Given the description of an element on the screen output the (x, y) to click on. 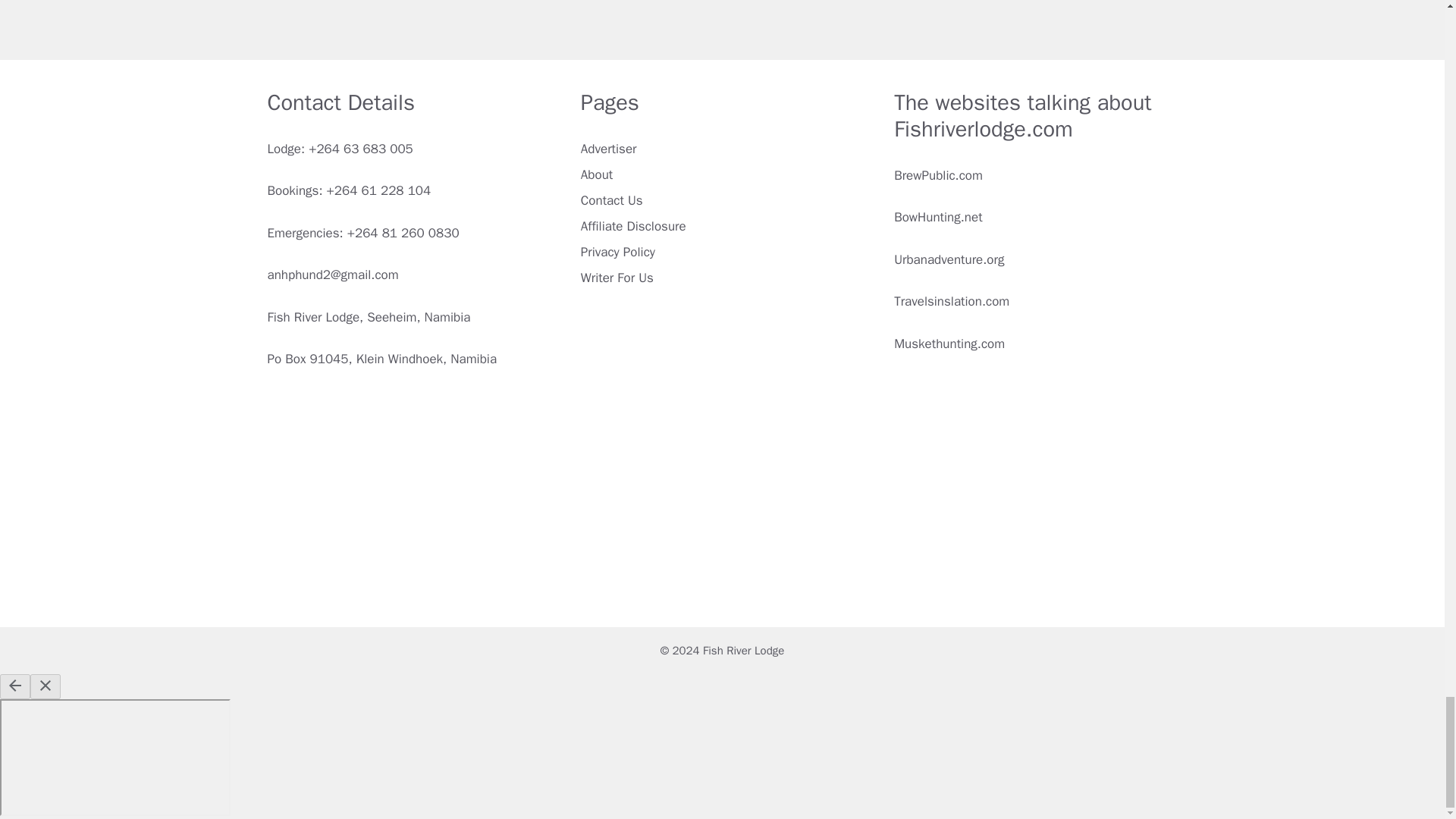
About (596, 174)
BowHunting.net (937, 217)
Contact Us (611, 200)
Advertiser (608, 148)
Travelsinslation.com (951, 301)
Affiliate Disclosure (632, 226)
BrewPublic.com (937, 175)
Privacy Policy (617, 252)
Urbanadventure.org (948, 259)
Writer For Us (616, 277)
